Given the description of an element on the screen output the (x, y) to click on. 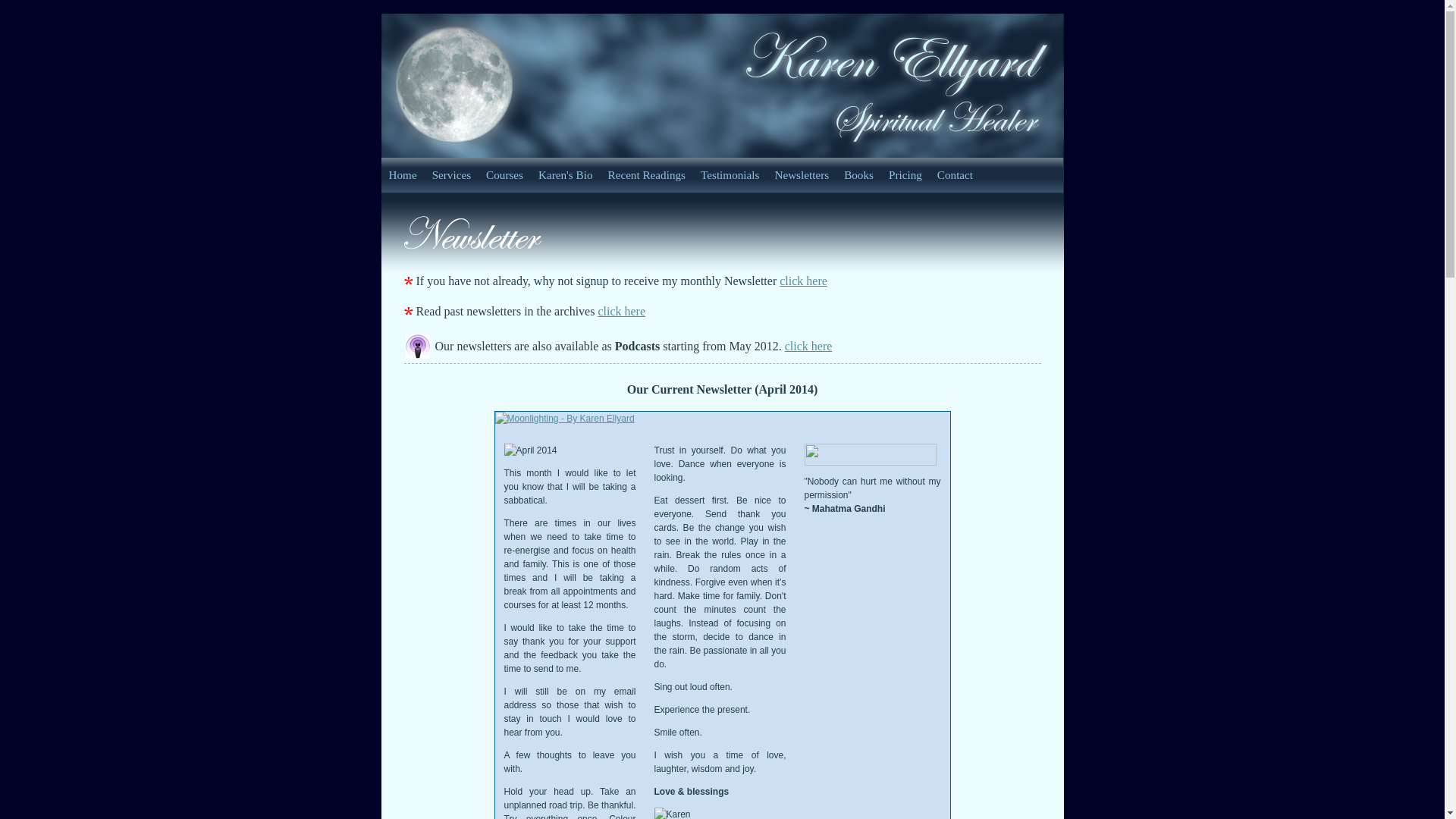
click here Element type: text (621, 310)
Newsletters Element type: text (801, 174)
Books Element type: text (858, 174)
Testimonials Element type: text (729, 174)
Services Element type: text (451, 174)
click here Element type: text (808, 345)
Courses Element type: text (504, 174)
click here Element type: text (803, 280)
Recent Readings Element type: text (646, 174)
Karen's Bio Element type: text (565, 174)
Home Element type: text (401, 174)
Pricing Element type: text (905, 174)
Contact Element type: text (954, 174)
